Given the description of an element on the screen output the (x, y) to click on. 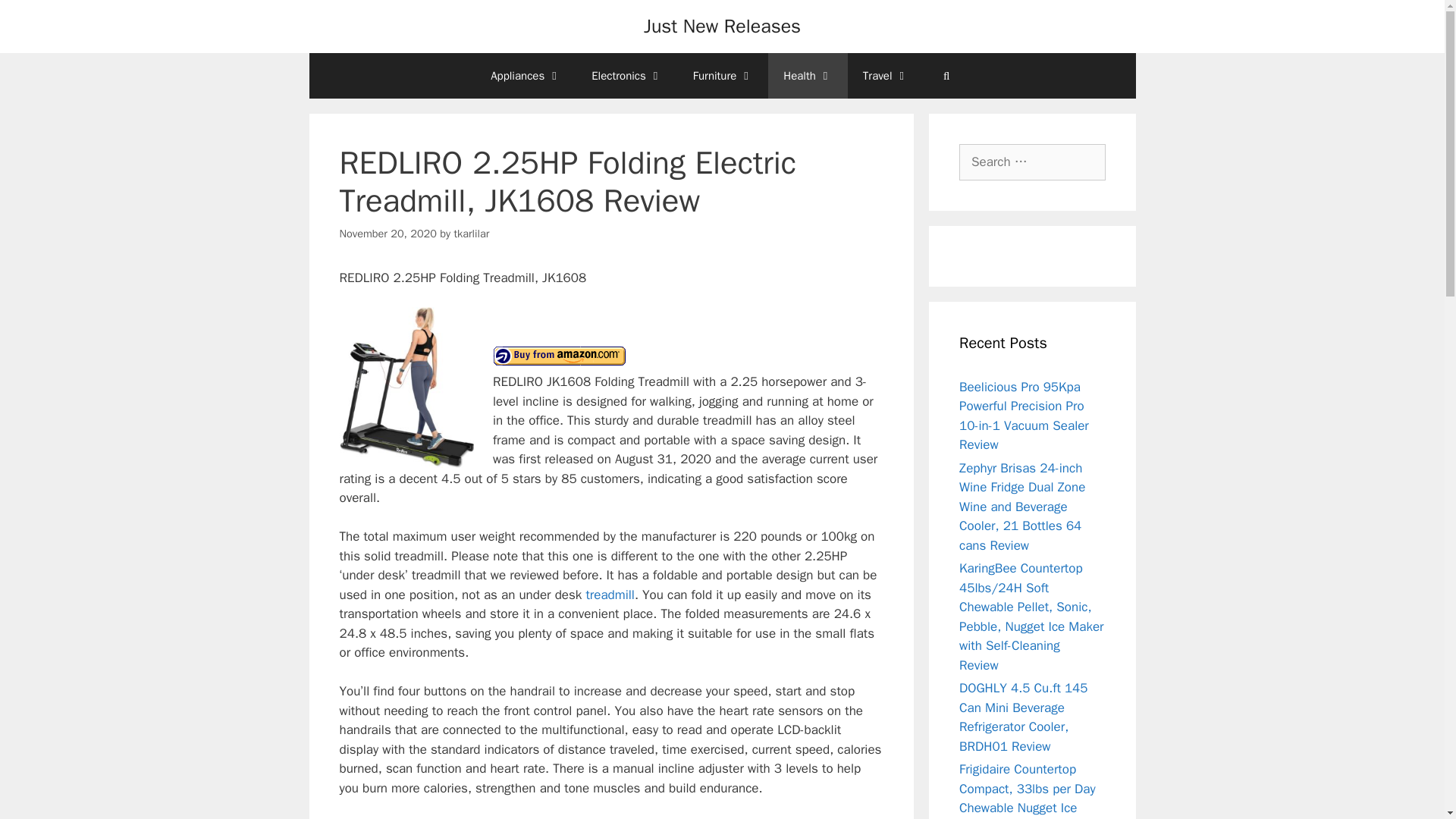
Buy from Amazon.com (559, 355)
Just New Releases (721, 25)
Electronics (627, 75)
View all posts by tkarlilar (470, 233)
Search for: (1032, 162)
Appliances (526, 75)
